Given the description of an element on the screen output the (x, y) to click on. 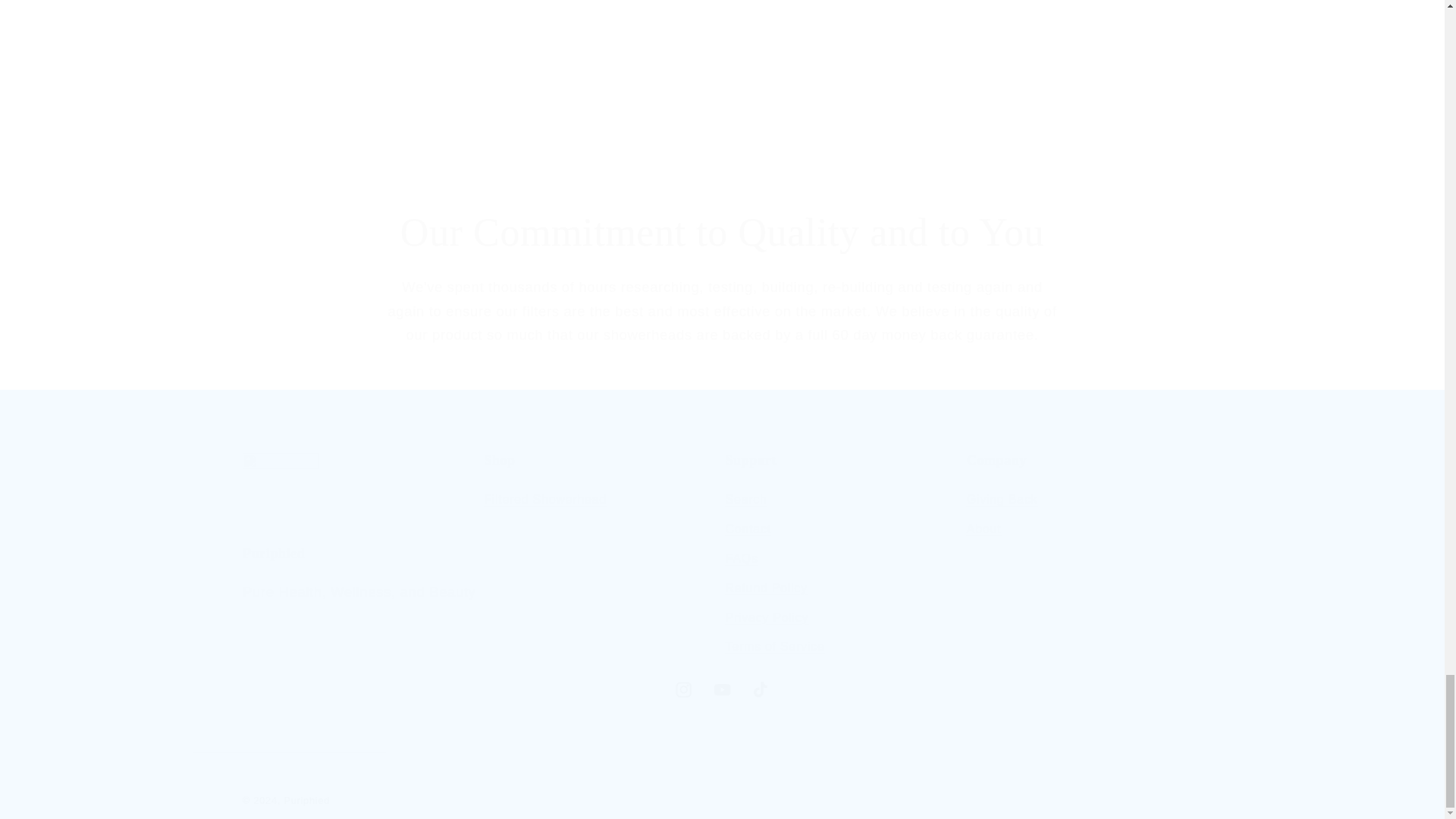
Filtered Showerhead (722, 689)
Giving Back (360, 556)
FAQs (545, 501)
Instagram (1001, 501)
Search (741, 558)
Privacy Policy (684, 689)
About (746, 501)
Puriphied (1084, 556)
